Given the description of an element on the screen output the (x, y) to click on. 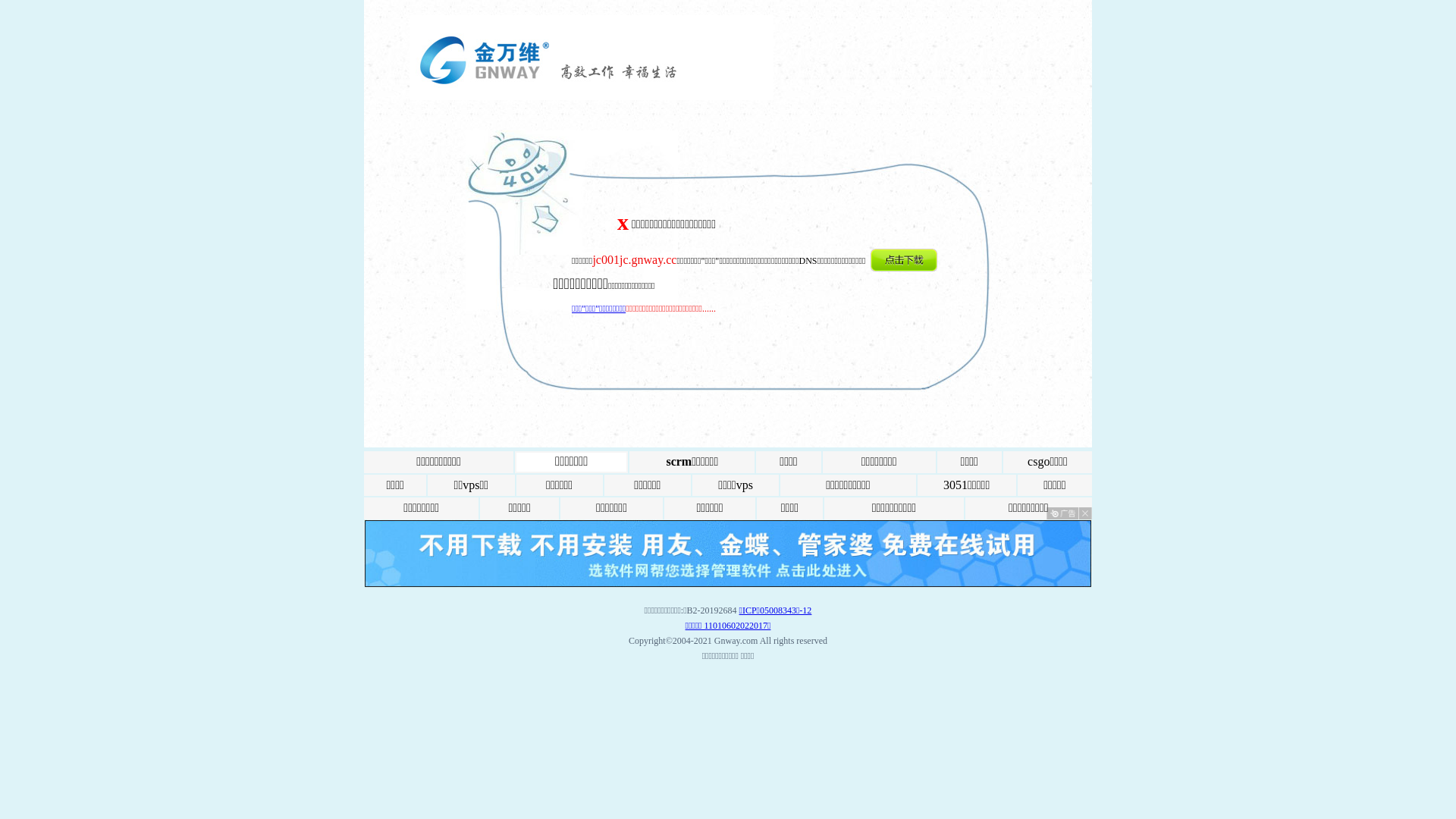
XRJ Element type: hover (728, 583)
